Given the description of an element on the screen output the (x, y) to click on. 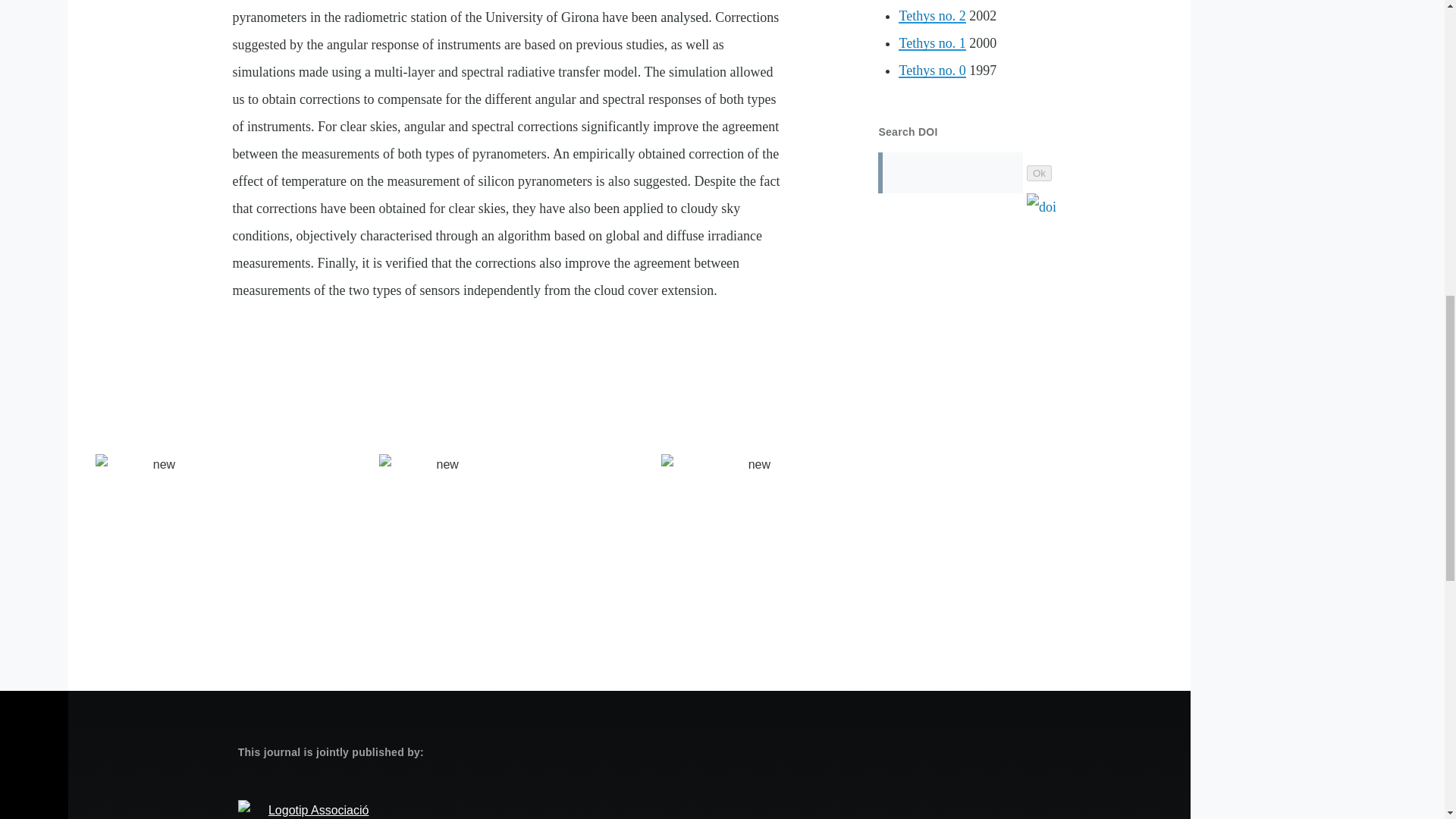
Tethys no. 1 (931, 43)
Tethys no. 2 (931, 15)
Tethys no. 0 (931, 70)
Ok (1038, 172)
doi (1045, 206)
